Given the description of an element on the screen output the (x, y) to click on. 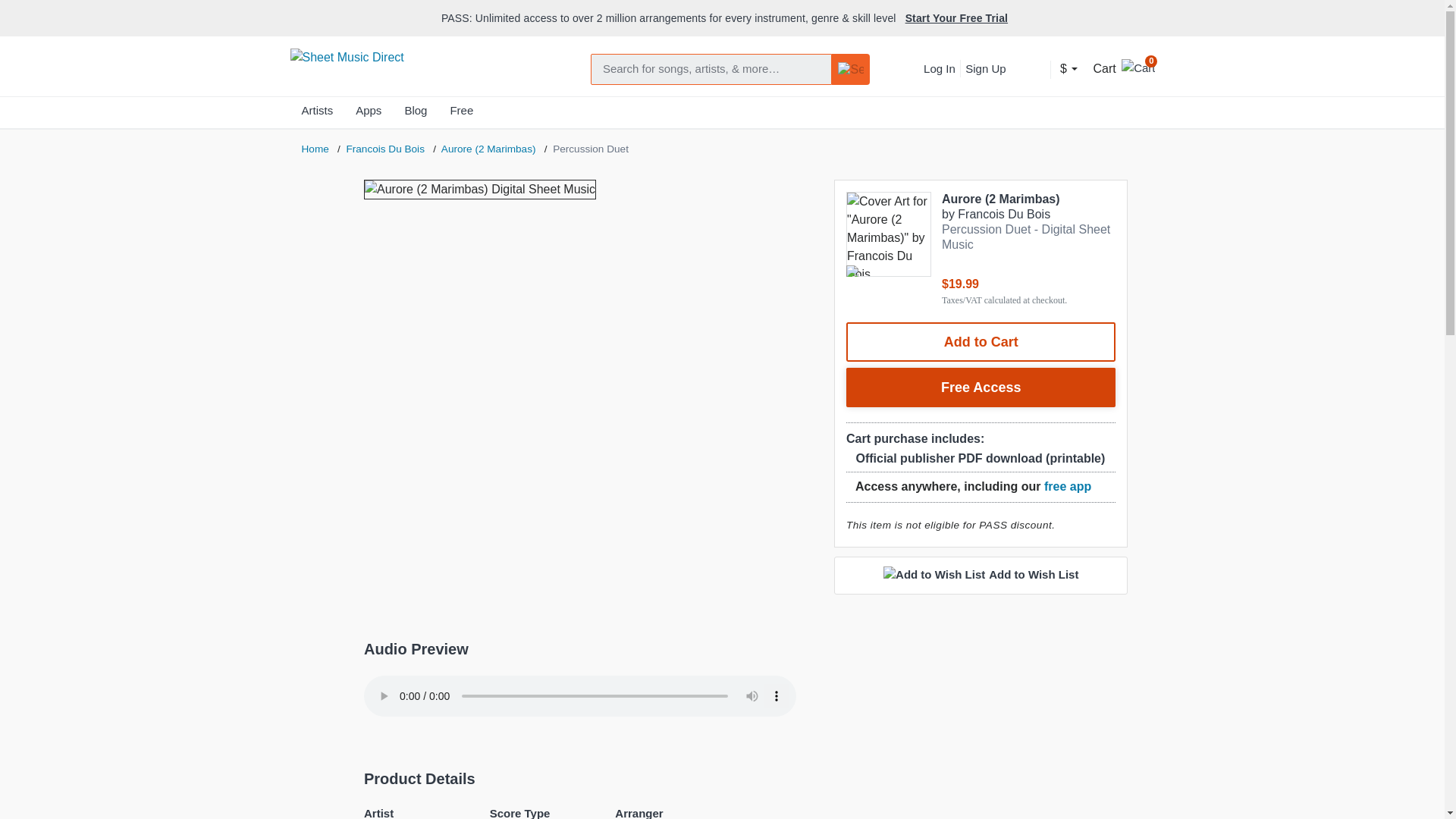
Blog (415, 113)
Add to Cart (980, 341)
Sign Up (984, 68)
Submit (850, 69)
0 (1137, 65)
Start Your Free Trial (956, 18)
Search for sheet music (711, 69)
Apps (368, 113)
Log In (939, 68)
Free (461, 113)
